Given the description of an element on the screen output the (x, y) to click on. 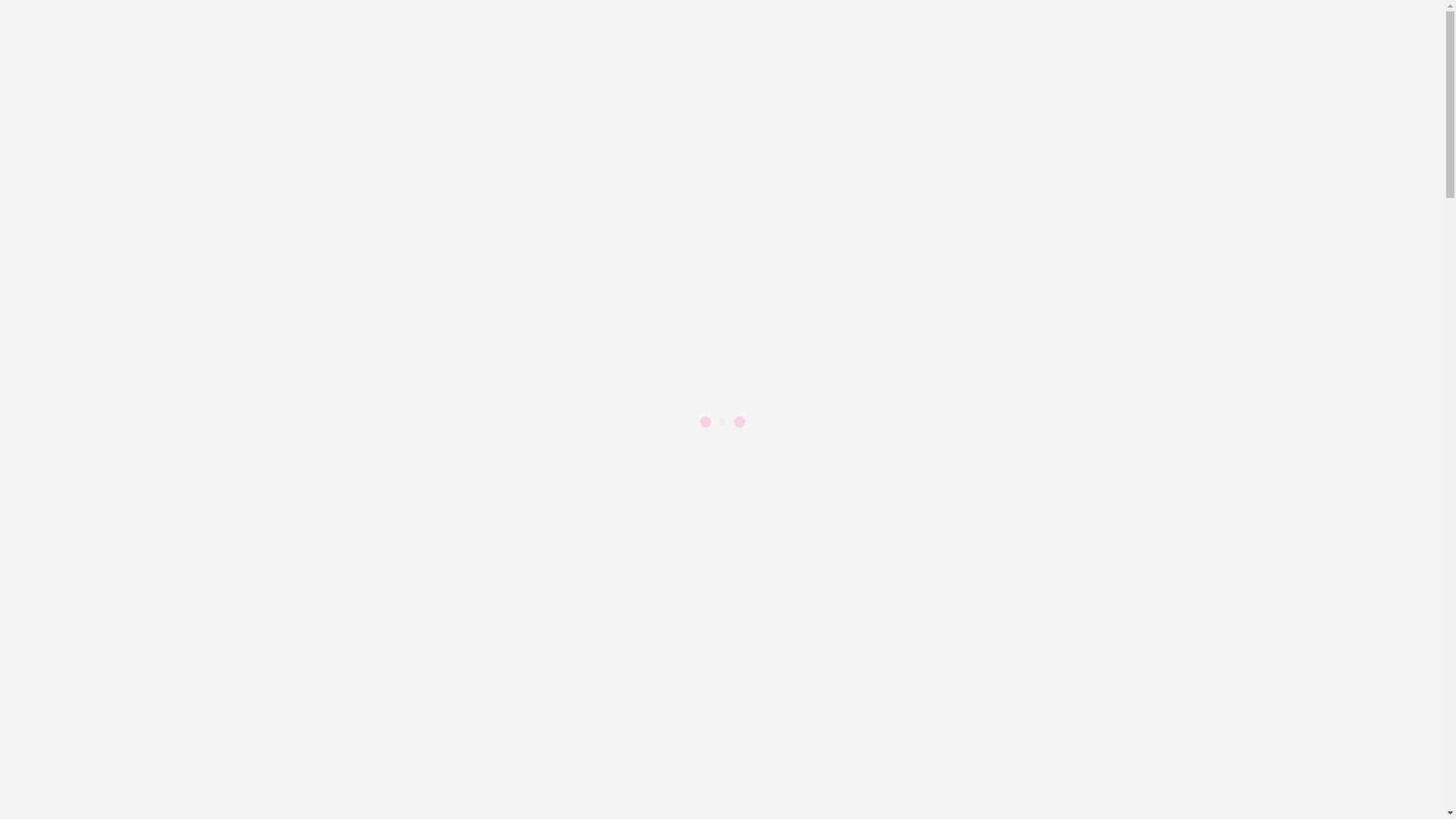
Stage Big Band Element type: text (134, 529)
Printemps musical Element type: text (111, 338)
Ouvrir la navigation mobile Element type: hover (12, 695)
Master Class Element type: text (128, 461)
FAQ Element type: text (47, 175)
Ateliers in situ Element type: text (132, 638)
Pratiques collectives Element type: text (116, 583)
Agenda / Saison musicale Element type: text (129, 310)
Concert des enseignants Element type: text (125, 365)
Covoiturons Element type: text (66, 202)
Pop rock Element type: text (118, 501)
Batterie Element type: text (116, 488)
Carte cadeau Element type: text (97, 406)
Groupes Element type: text (56, 570)
Parcours musicaux Element type: text (82, 269)
Musique verte Element type: text (131, 515)
Stages Element type: text (82, 447)
Eveil musique et danse Element type: text (153, 556)
Ensembles Element type: text (123, 624)
Contact Element type: text (55, 188)
Coaching groupe Element type: text (108, 597)
MAO Element type: text (111, 542)
Inscrivez-vous Element type: text (71, 665)
Stages de chant choral Element type: text (151, 474)
Tremplin musical Element type: text (109, 351)
Fermer la barre des infos flash Element type: hover (12, 100)
Evenements Element type: text (65, 283)
Pass voix-instrument Element type: text (117, 392)
